Given the description of an element on the screen output the (x, y) to click on. 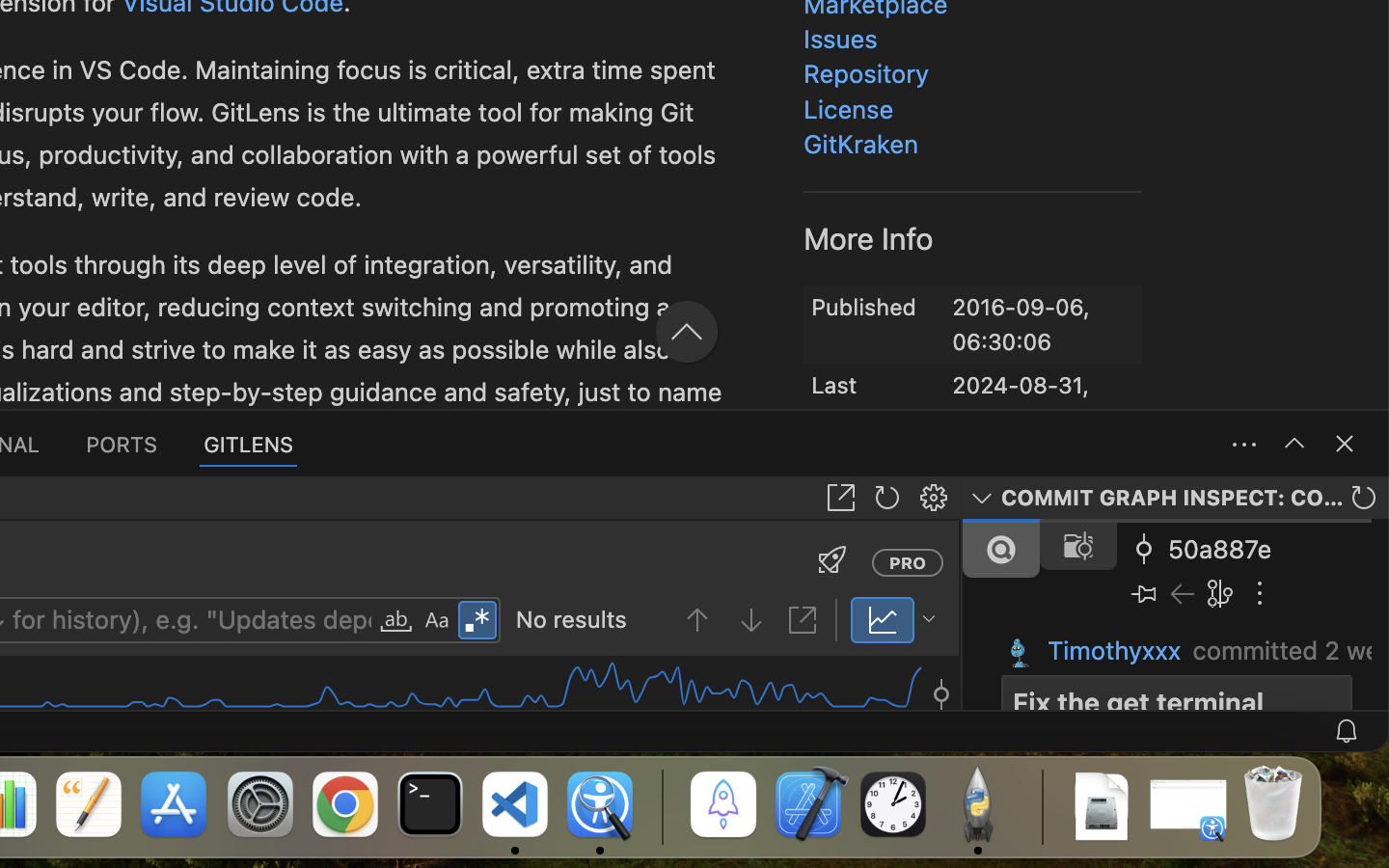
 Element type: AXStaticText (363, 223)
